Given the description of an element on the screen output the (x, y) to click on. 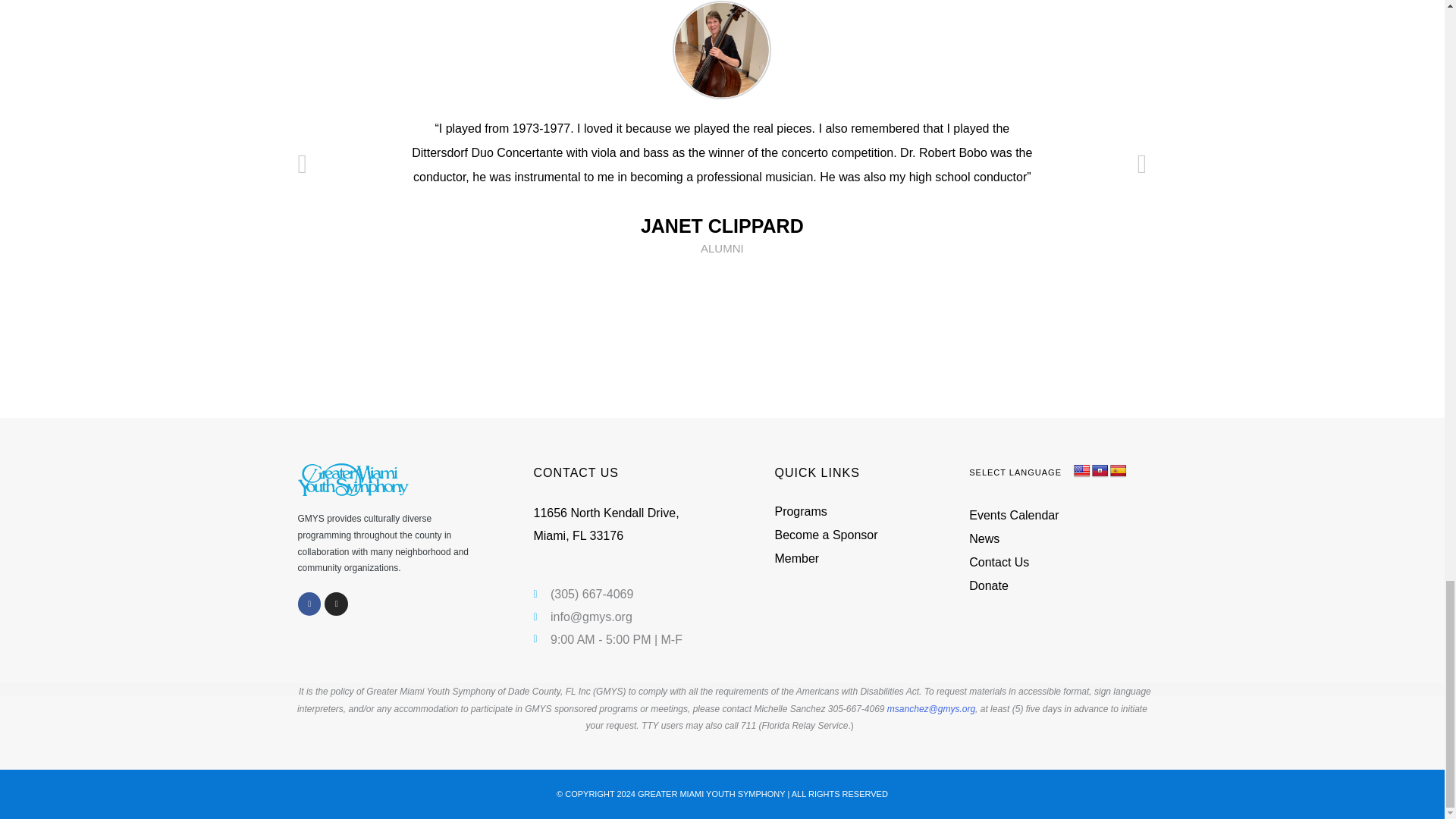
Spanish (1117, 471)
English (1082, 471)
Haitian (1100, 471)
